Given the description of an element on the screen output the (x, y) to click on. 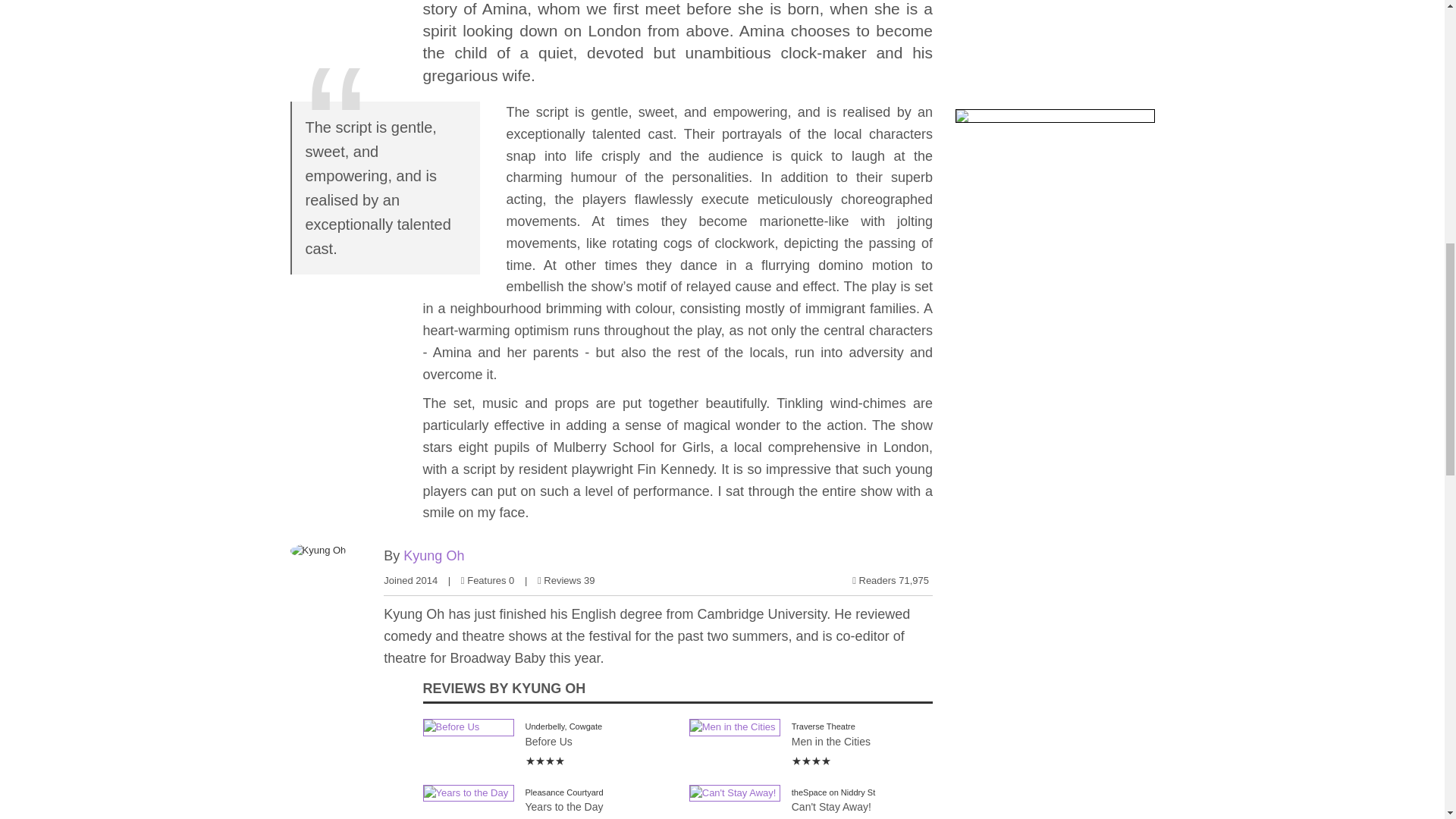
Can't Stay Away!  (734, 793)
Men in the Cities (734, 727)
Years to the Day (468, 793)
Before Us (468, 727)
